Given the description of an element on the screen output the (x, y) to click on. 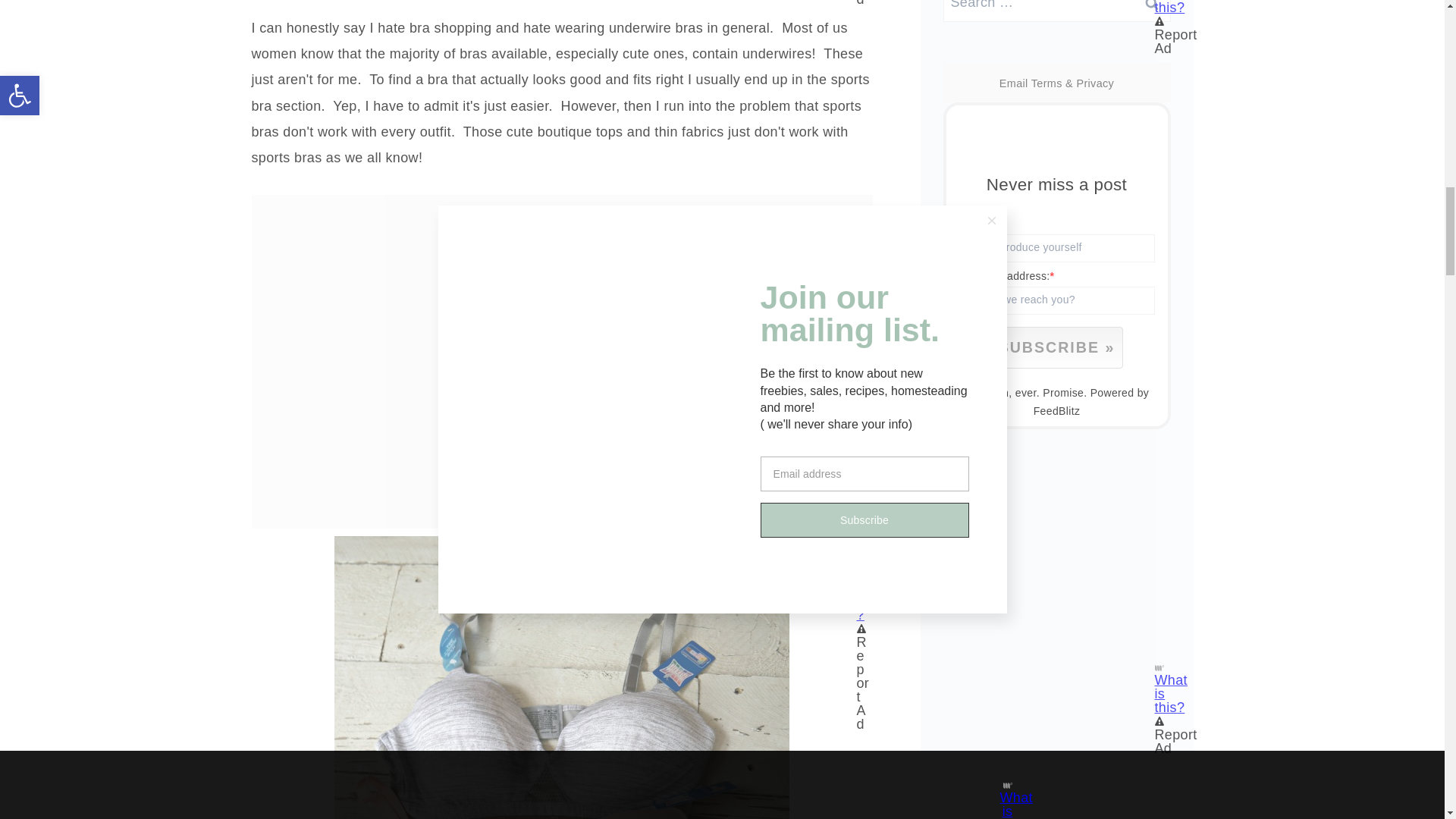
Email subscriptions privacy policy (1094, 82)
3rd party ad content (1056, 565)
3rd party ad content (561, 228)
Email subscriptions terms of service (1046, 82)
Search (1151, 11)
Search (1151, 11)
Please introduce yourself (1052, 248)
How can we reach you? (1052, 300)
click to join (1056, 347)
